Given the description of an element on the screen output the (x, y) to click on. 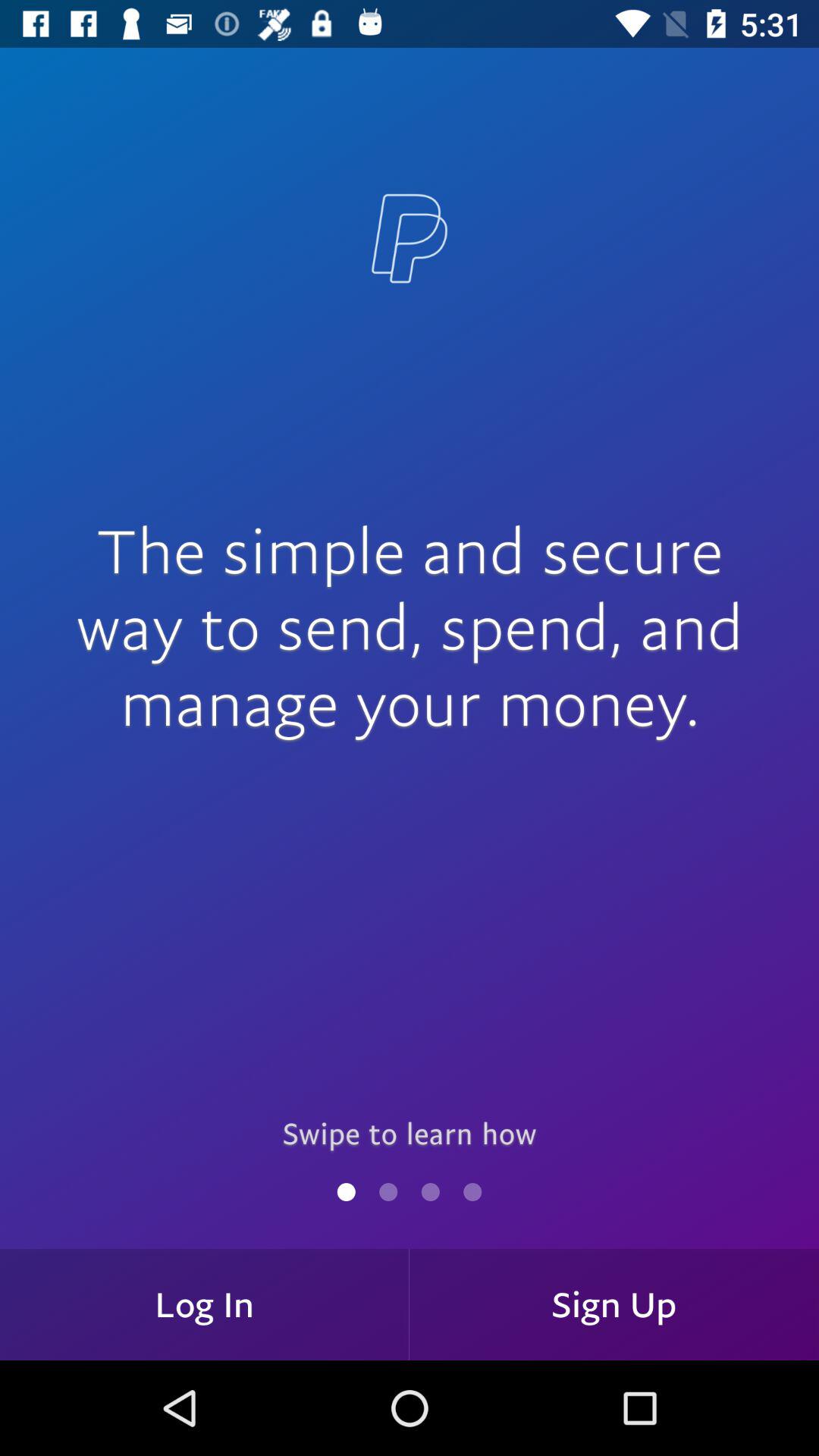
tap the sign up item (614, 1304)
